Given the description of an element on the screen output the (x, y) to click on. 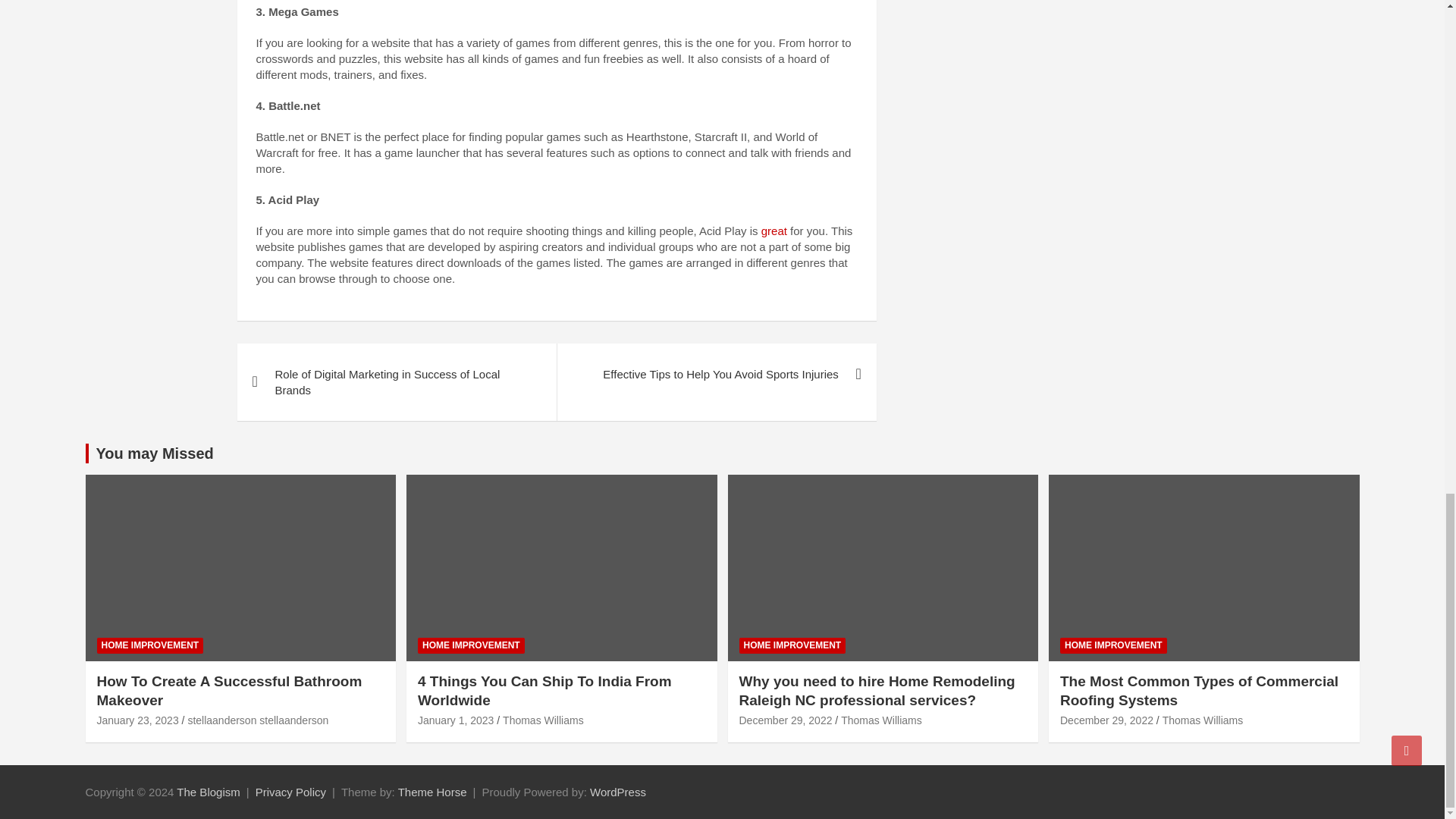
Theme Horse (432, 791)
WordPress (617, 791)
4 Things You Can Ship To India From Worldwide (455, 720)
The Most Common Types of Commercial Roofing Systems (1106, 720)
The Blogism (208, 791)
How To Create A Successful Bathroom Makeover (138, 720)
